Given the description of an element on the screen output the (x, y) to click on. 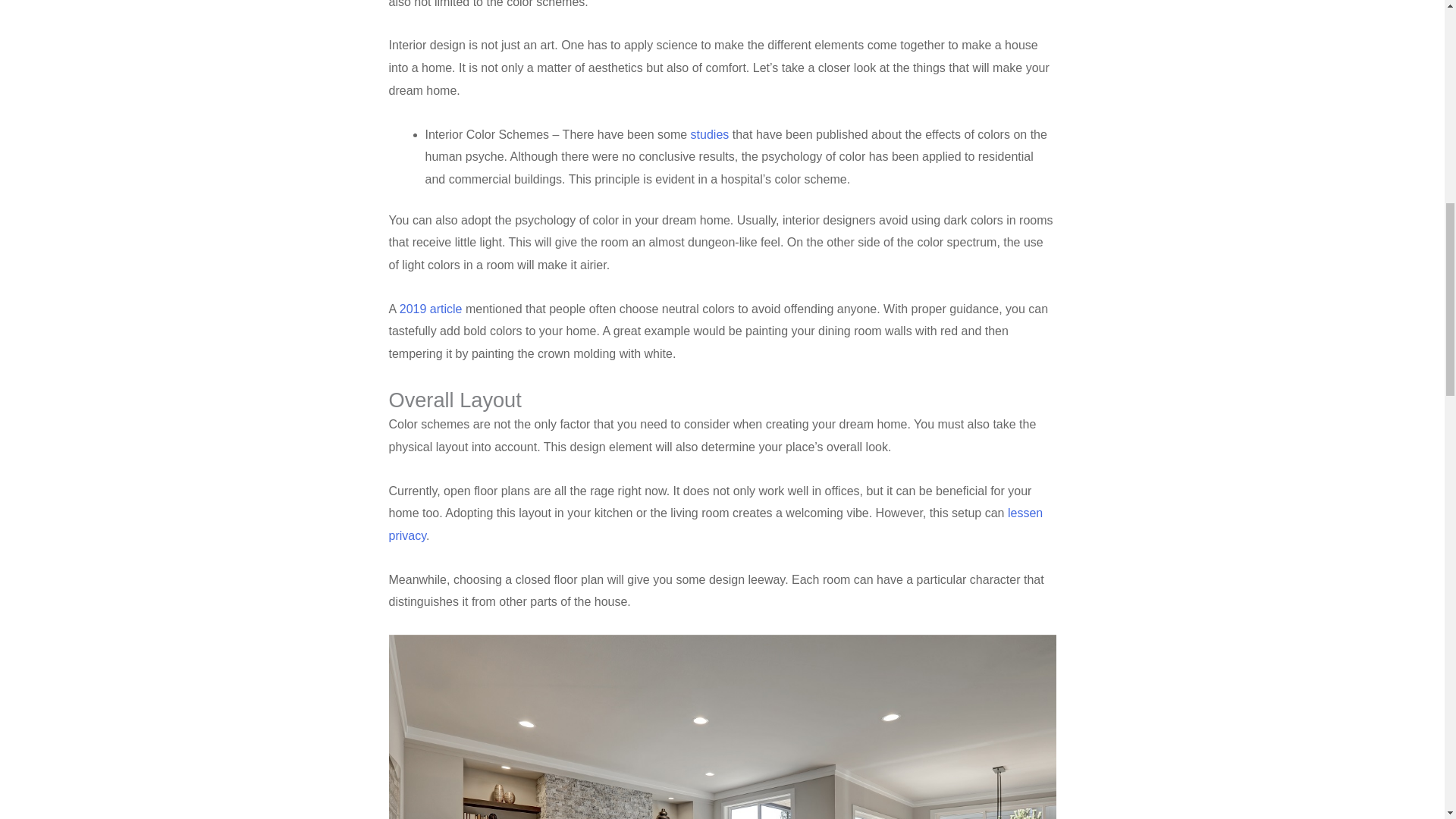
lessen privacy (715, 524)
2019 article (430, 308)
studies (709, 133)
